Given the description of an element on the screen output the (x, y) to click on. 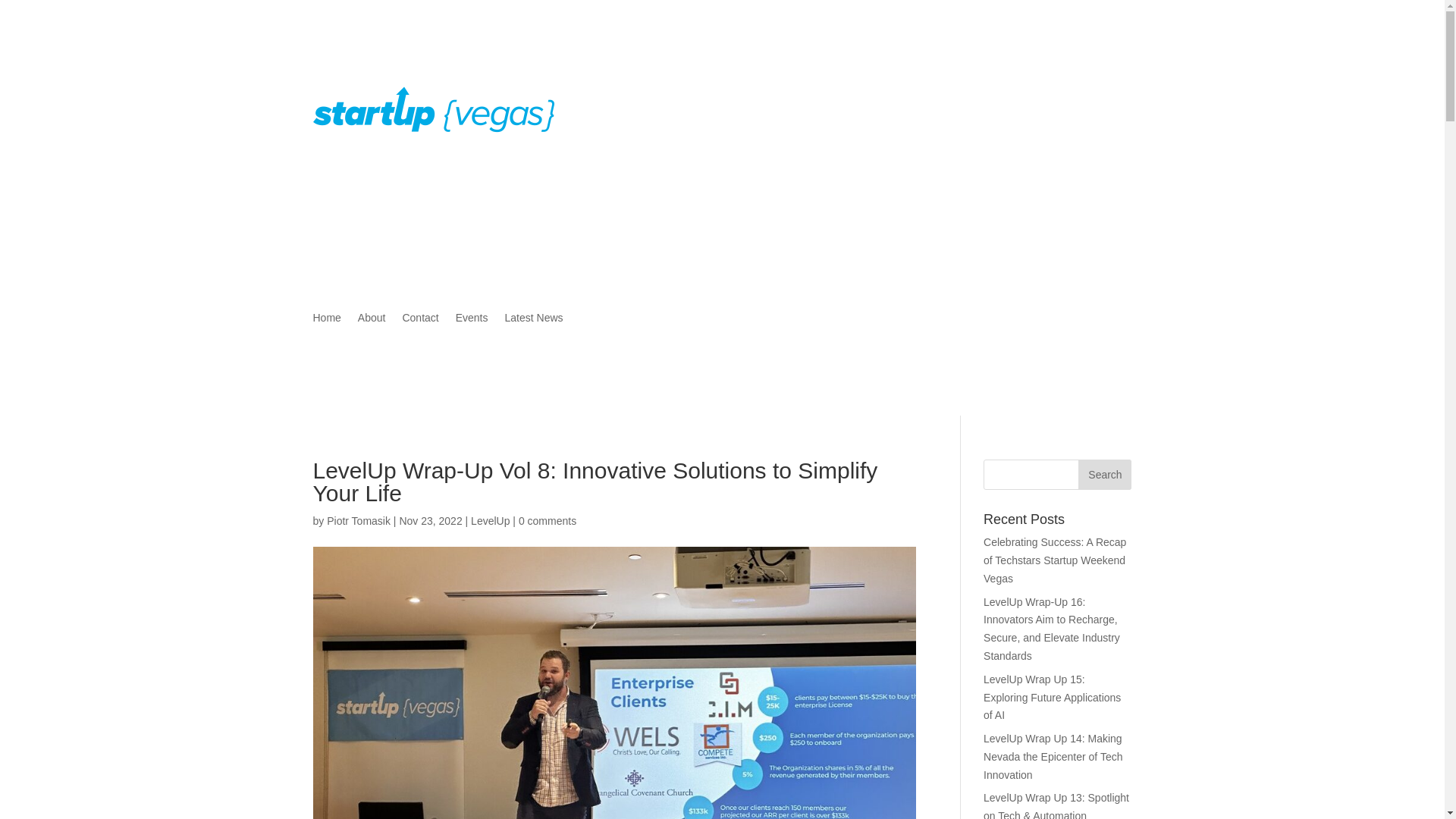
Search (1104, 474)
LevelUp (489, 521)
Home (326, 320)
Contact (419, 320)
Piotr Tomasik (358, 521)
0 comments (547, 521)
Events (471, 320)
Posts by Piotr Tomasik (358, 521)
Latest News (534, 320)
About (371, 320)
